Given the description of an element on the screen output the (x, y) to click on. 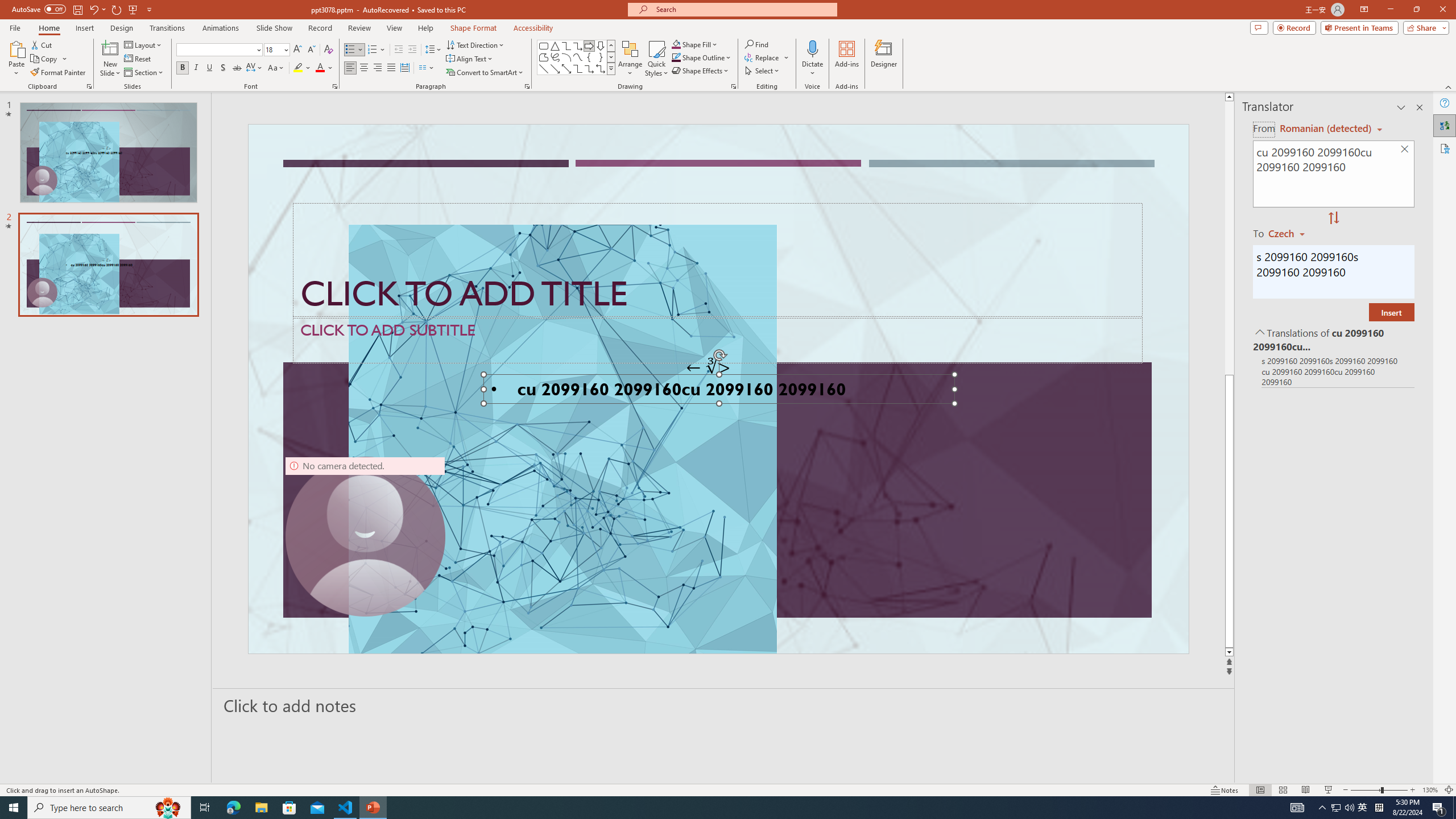
Subtitle TextBox (717, 339)
